Given the description of an element on the screen output the (x, y) to click on. 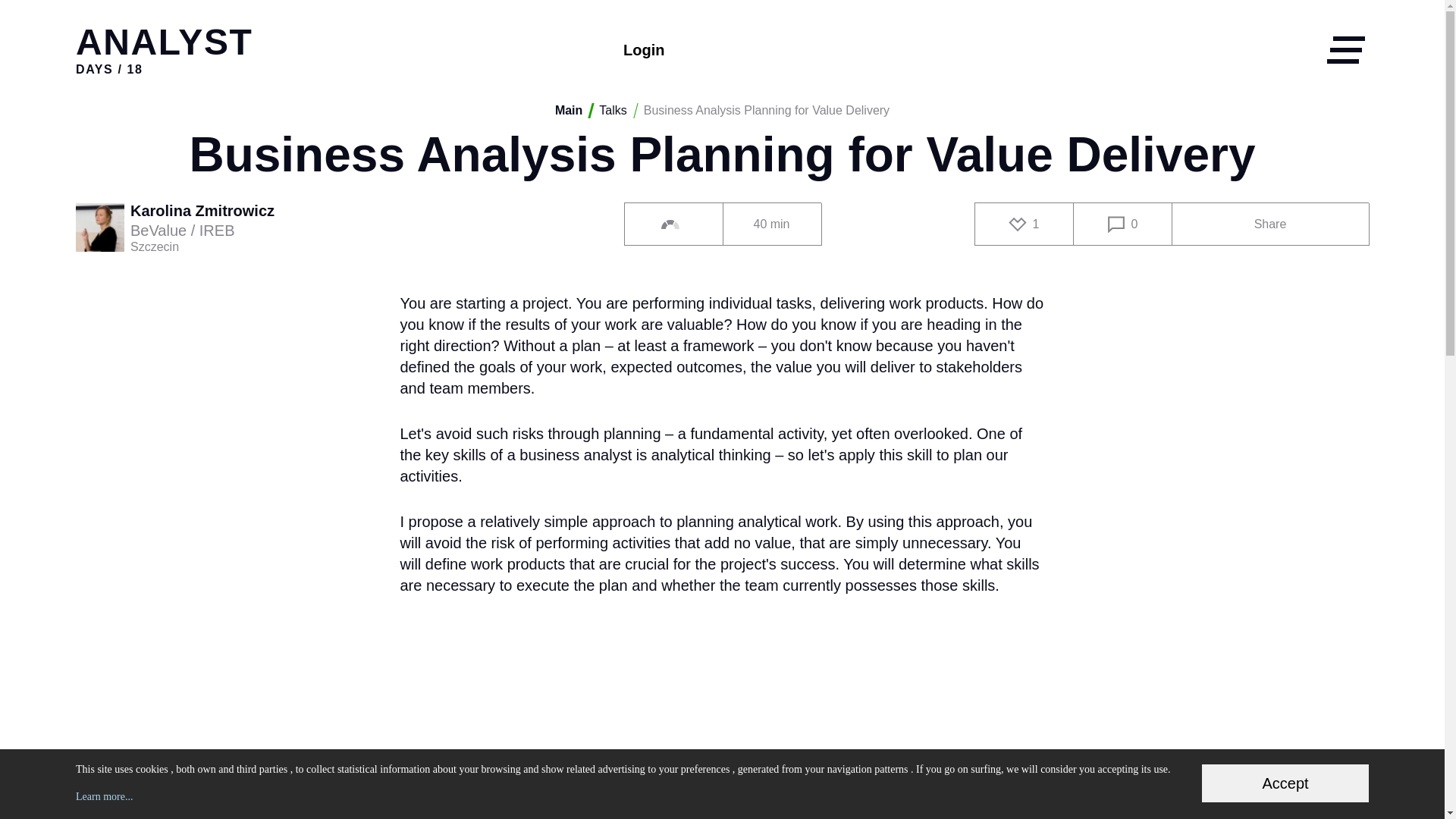
Learn more... (103, 796)
Main (568, 110)
Share (1270, 224)
Login (643, 49)
Talks (612, 110)
0 (1122, 224)
1 (1023, 224)
Karolina Zmitrowicz (206, 212)
